Given the description of an element on the screen output the (x, y) to click on. 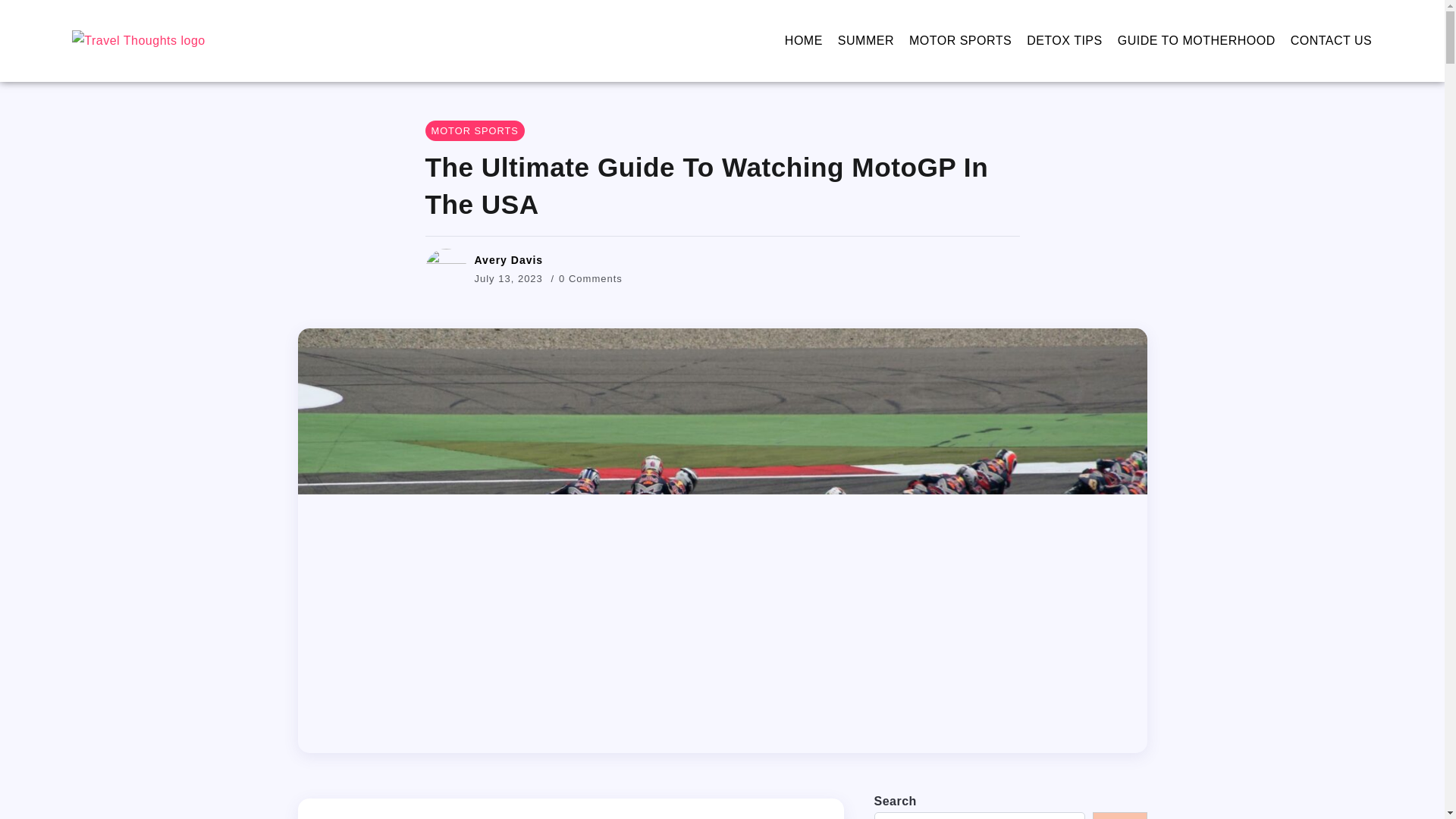
MOTOR SPORTS (474, 130)
SUMMER (865, 40)
0 Comments (591, 278)
MOTOR SPORTS (959, 40)
GUIDE TO MOTHERHOOD (1196, 40)
Motor Sports (474, 130)
HOME (803, 40)
DETOX TIPS (1064, 40)
Avery Davis (508, 259)
